Given the description of an element on the screen output the (x, y) to click on. 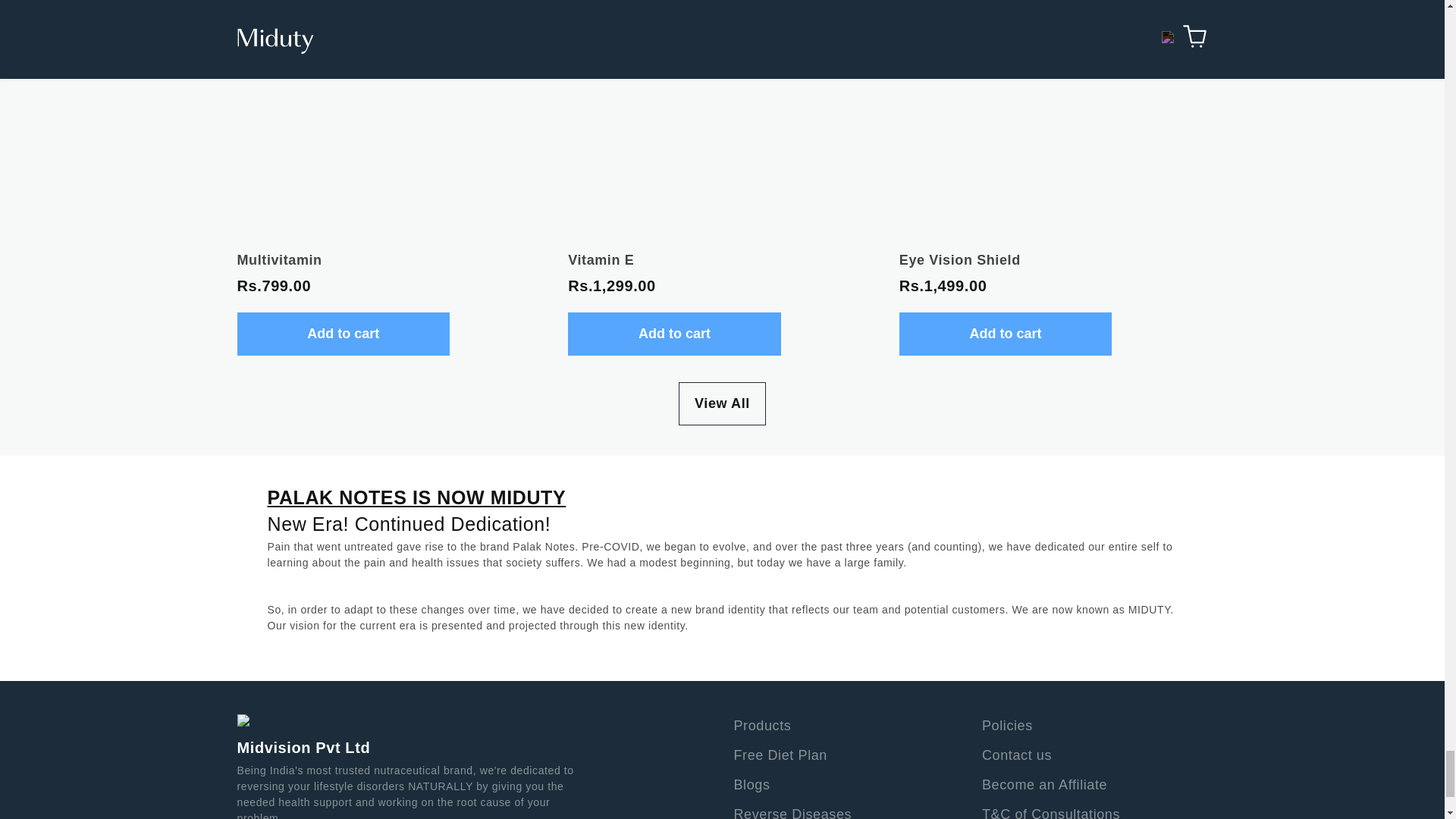
Add to cart (1005, 333)
Add to cart (673, 333)
Products (762, 725)
Free Diet Plan (780, 755)
View All (721, 403)
Add to cart (342, 333)
